Given the description of an element on the screen output the (x, y) to click on. 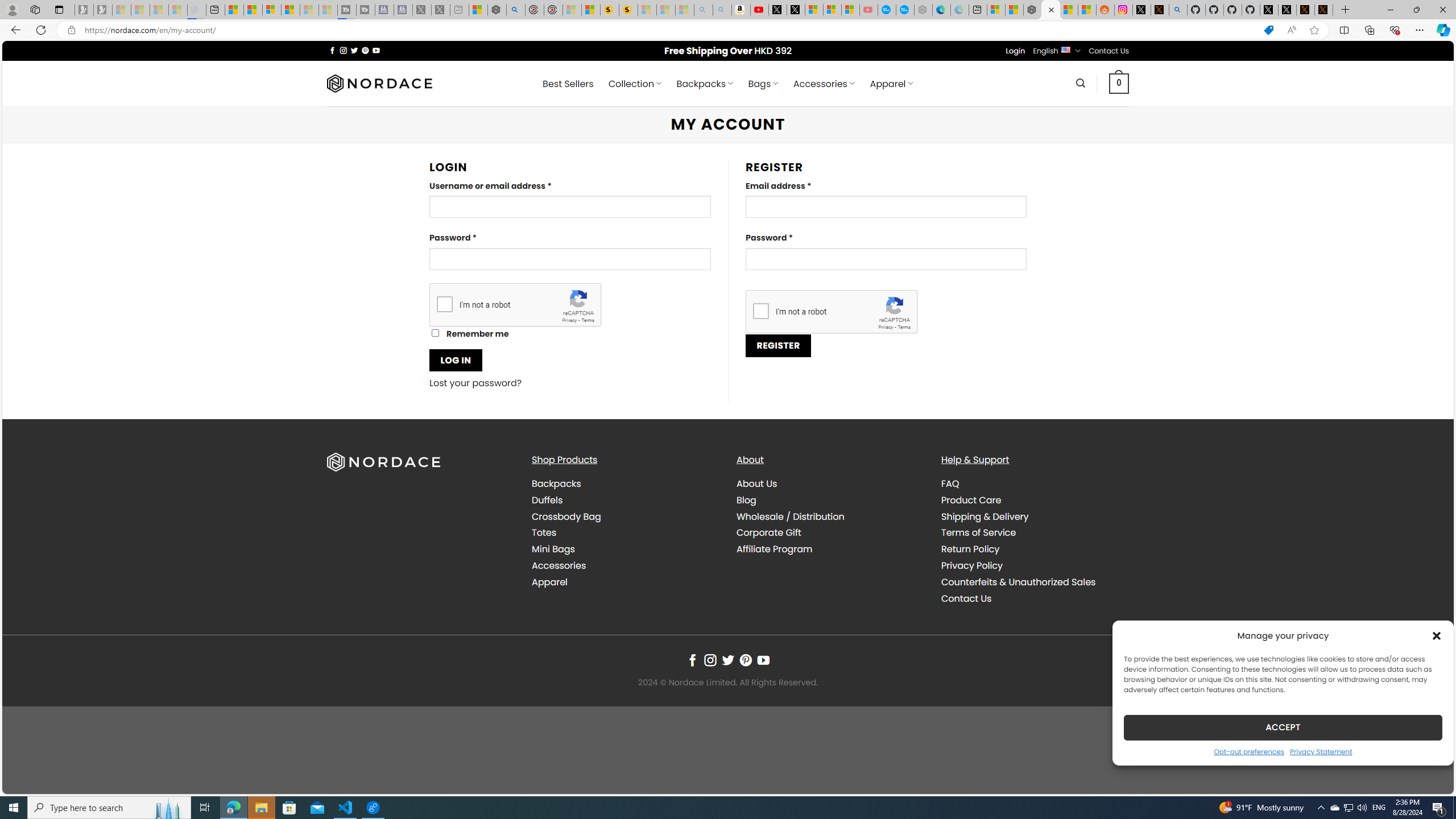
Microsoft Start - Sleeping (309, 9)
Class: cmplz-close (1436, 635)
Duffels (547, 499)
GitHub (@github) / X (1287, 9)
Nordace - My Account (1050, 9)
Mini Bags (553, 549)
Go to top (1430, 777)
Wildlife - MSN (478, 9)
Follow on Pinterest (745, 659)
